Given the description of an element on the screen output the (x, y) to click on. 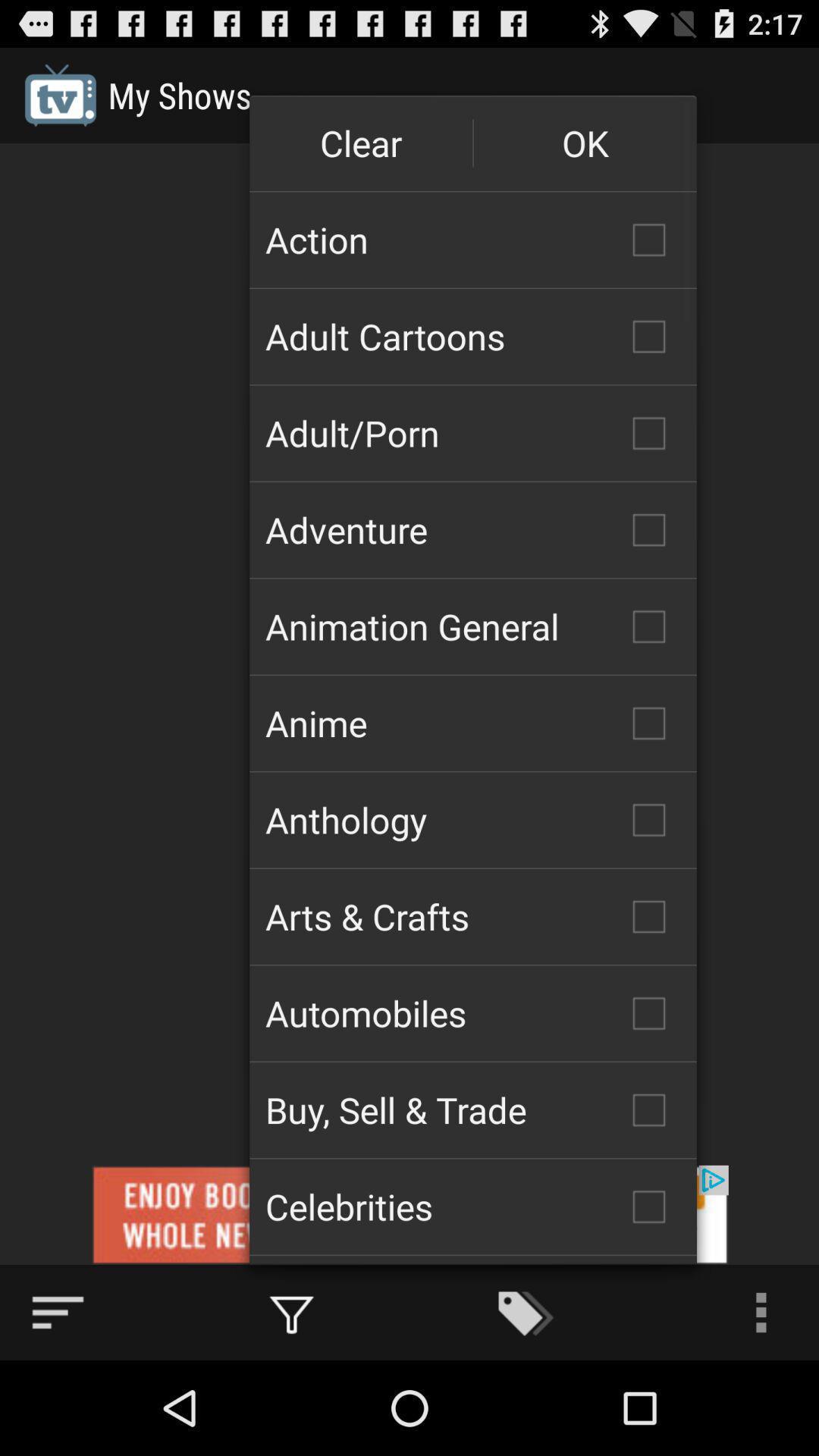
choose button next to the ok icon (360, 143)
